Given the description of an element on the screen output the (x, y) to click on. 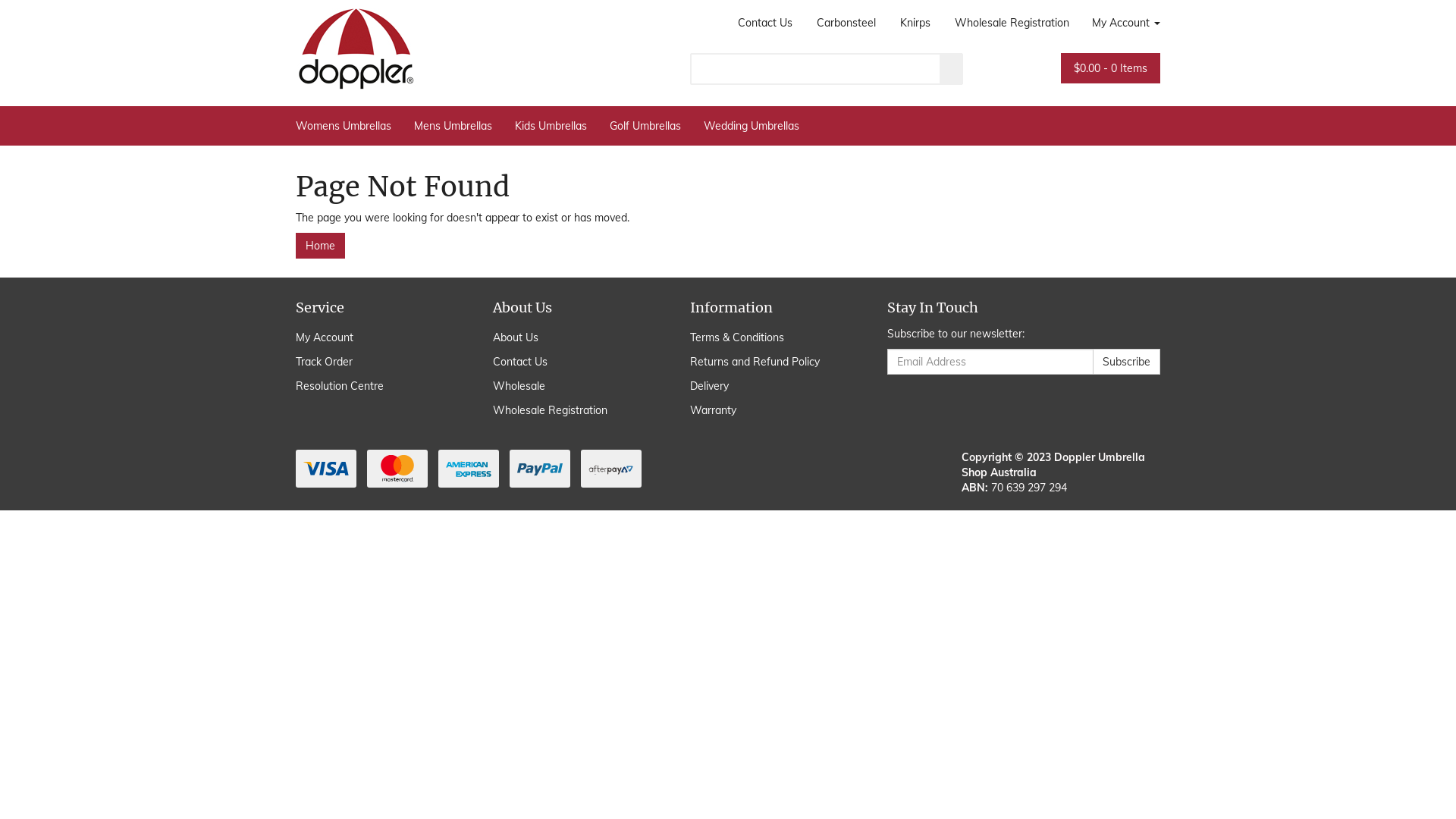
Golf Umbrellas Element type: text (645, 125)
Kids Umbrellas Element type: text (550, 125)
Carbonsteel Element type: text (846, 22)
Womens Umbrellas Element type: text (348, 125)
Home Element type: text (320, 245)
Resolution Centre Element type: text (377, 385)
My Account Element type: text (1120, 22)
About Us Element type: text (574, 337)
Subscribe Element type: text (1126, 361)
Search Element type: text (951, 68)
Wholesale Element type: text (574, 385)
Warranty Element type: text (771, 409)
Mens Umbrellas Element type: text (452, 125)
Doppler Umbrella Shop Australia Element type: hover (356, 44)
Delivery Element type: text (771, 385)
Track Order Element type: text (377, 361)
$0.00 - 0 Items Element type: text (1110, 68)
Returns and Refund Policy Element type: text (771, 361)
Wholesale Registration Element type: text (574, 409)
Knirps Element type: text (914, 22)
Wholesale Registration Element type: text (1011, 22)
Contact Us Element type: text (764, 22)
Wedding Umbrellas Element type: text (751, 125)
Terms & Conditions Element type: text (771, 337)
Contact Us Element type: text (574, 361)
My Account Element type: text (377, 337)
